Given the description of an element on the screen output the (x, y) to click on. 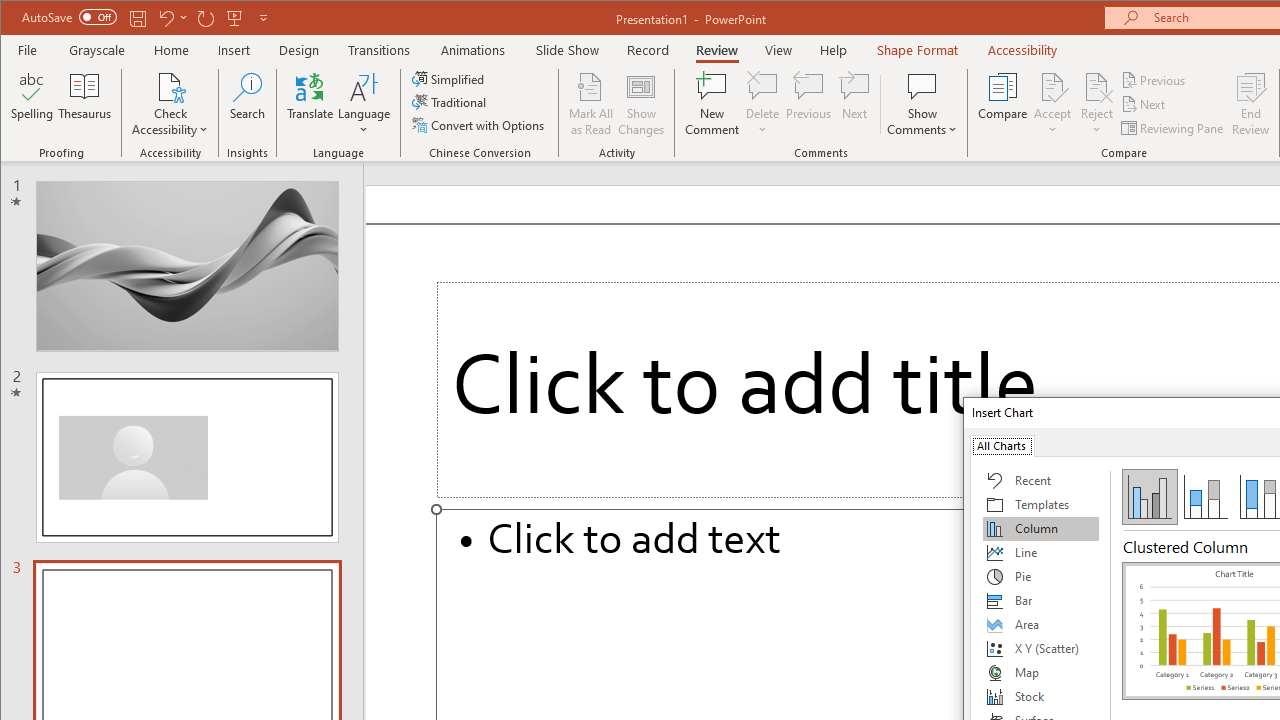
Pie (1041, 576)
Traditional (450, 101)
Area (1041, 624)
Stacked Column (1205, 496)
Map (1041, 672)
Translate (310, 104)
Compare (1002, 104)
Thesaurus... (84, 104)
Recent (1041, 480)
